Given the description of an element on the screen output the (x, y) to click on. 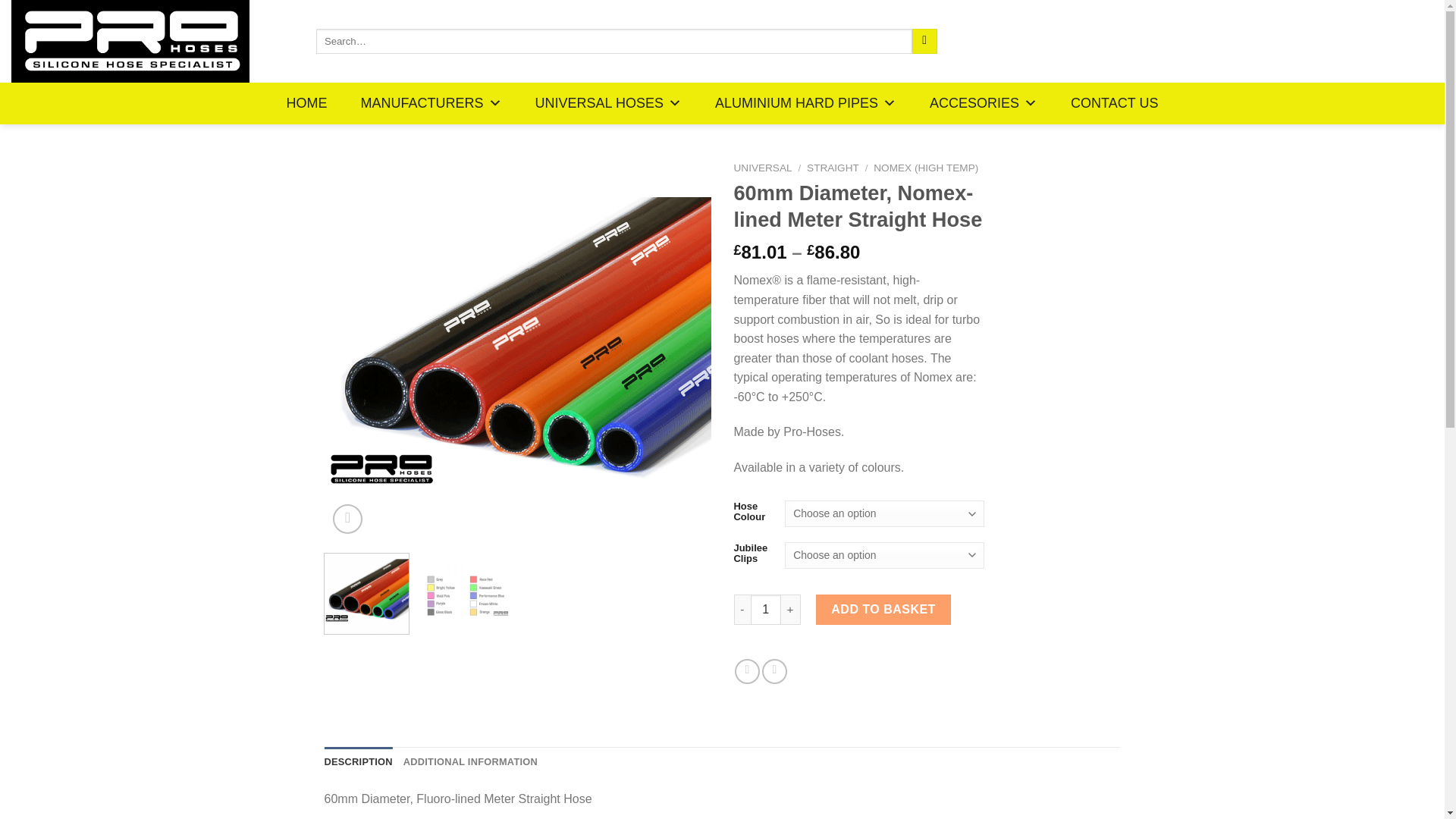
Search (924, 41)
Zoom (347, 518)
Basket (1410, 40)
Share on Twitter (774, 671)
HOME (306, 103)
1 (765, 609)
MANUFACTURERS (430, 103)
Share on Facebook (747, 671)
